Given the description of an element on the screen output the (x, y) to click on. 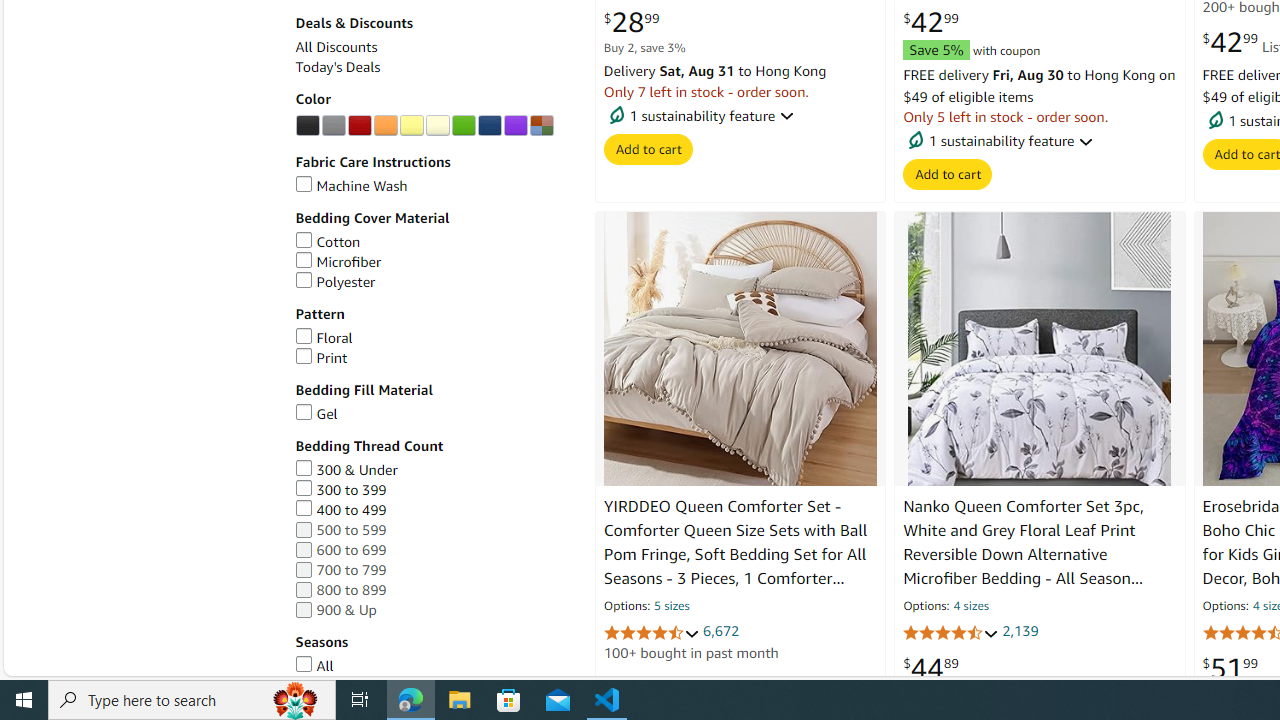
$51.99 (1230, 668)
Microfiber (434, 262)
Blue (489, 125)
Gel (315, 413)
300 to 399 (340, 489)
Add to cart (947, 174)
400 to 499 (434, 510)
400 to 499 (340, 509)
800 to 899 (434, 590)
900 & Up (434, 610)
Today's Deals (434, 67)
Orange (385, 125)
Ivory (437, 125)
